Given the description of an element on the screen output the (x, y) to click on. 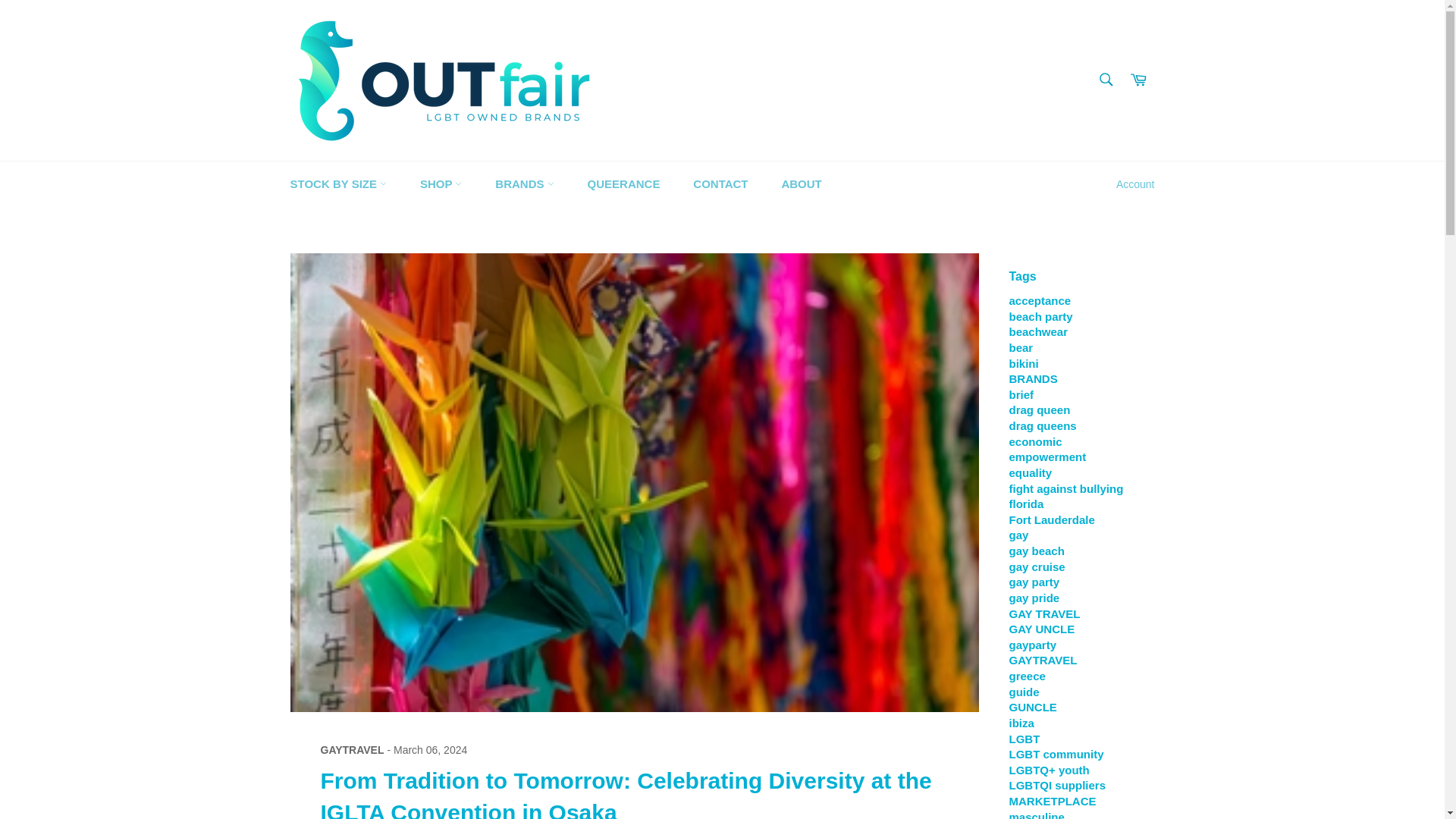
Show articles tagged beachwear (1038, 331)
Show articles tagged drag queen (1039, 409)
Show articles tagged gay beach (1036, 550)
Show articles tagged bikini (1023, 363)
Show articles tagged beach party (1040, 316)
Show articles tagged drag queens (1042, 425)
Show articles tagged economic empowerment (1047, 449)
Show articles tagged gay (1018, 534)
Search (1104, 79)
Show articles tagged florida (1026, 503)
